Given the description of an element on the screen output the (x, y) to click on. 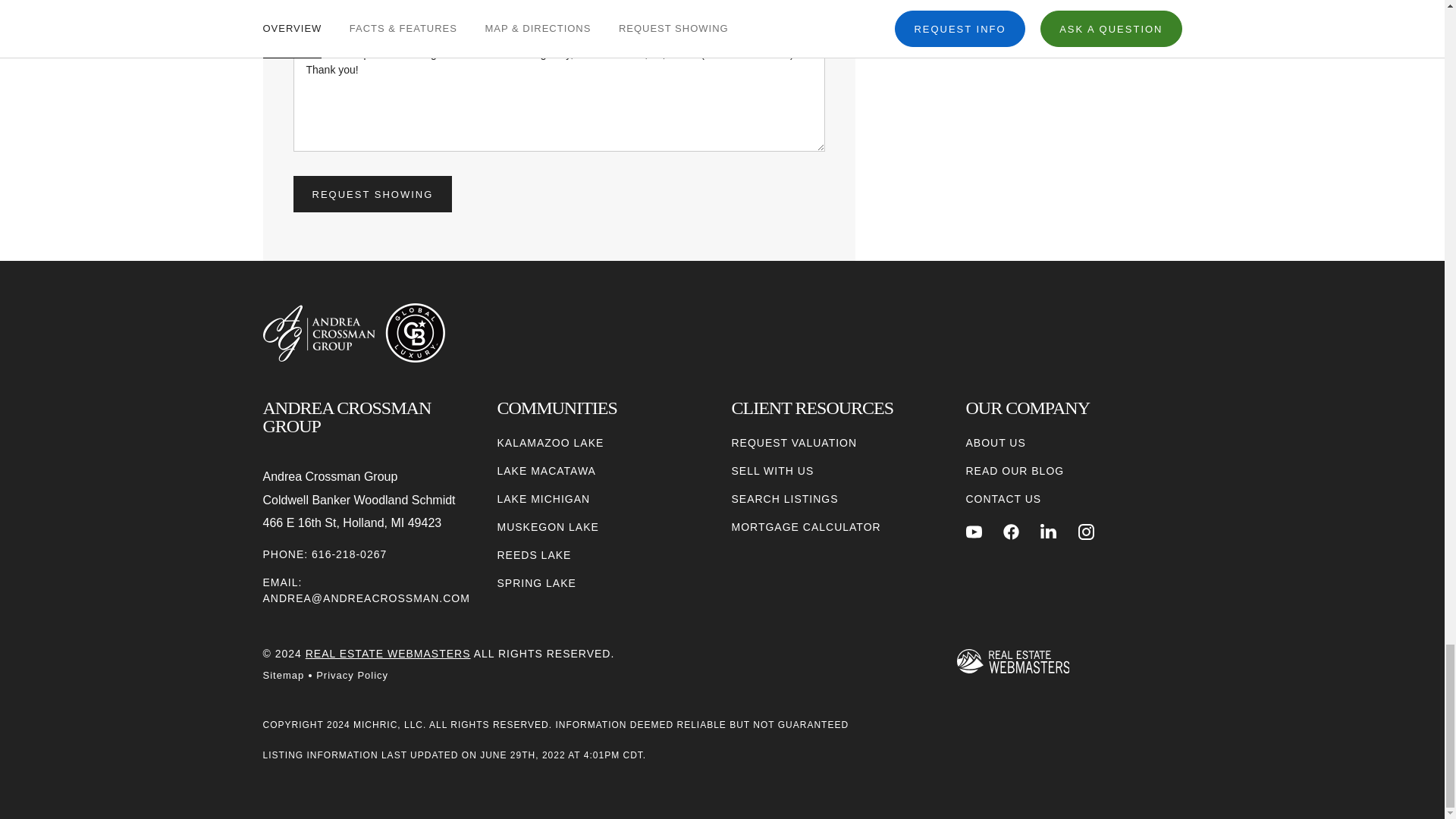
YOUTUBE (973, 531)
FACEBOOK (1011, 531)
LINKEDIN (1049, 531)
